Given the description of an element on the screen output the (x, y) to click on. 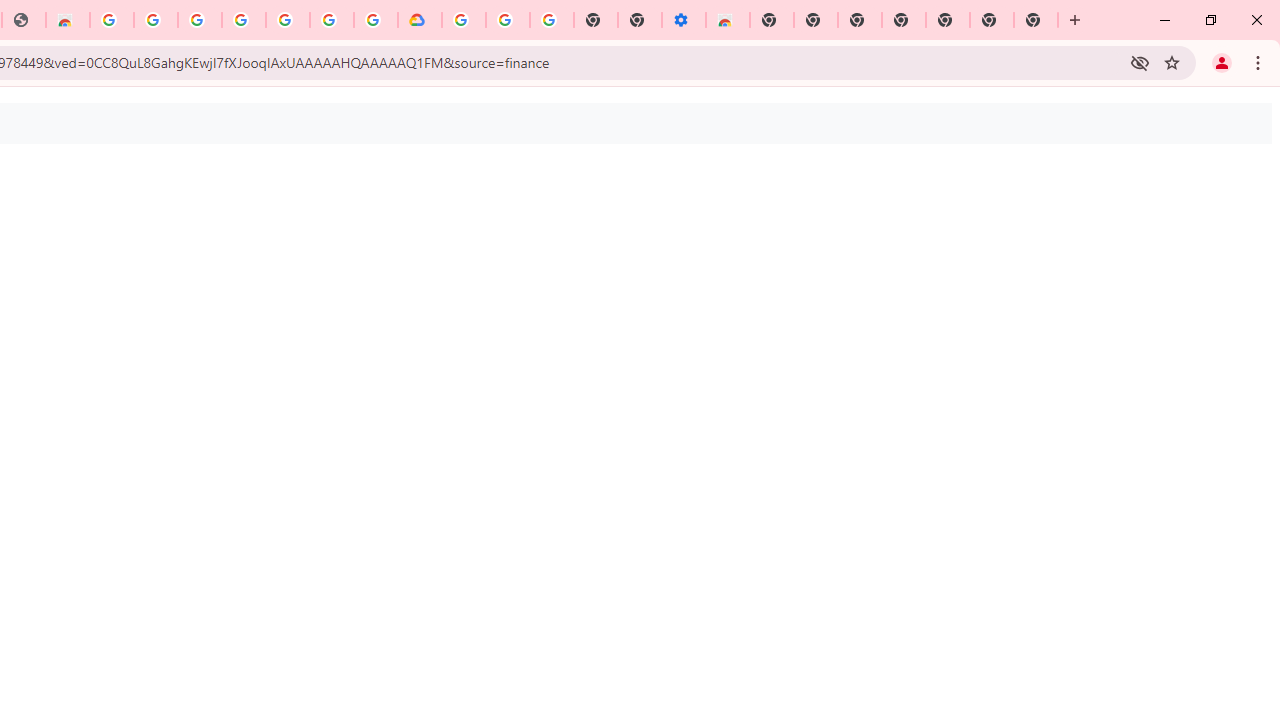
Google Account Help (507, 20)
Sign in - Google Accounts (199, 20)
Turn cookies on or off - Computer - Google Account Help (551, 20)
Sign in - Google Accounts (331, 20)
Settings - Accessibility (683, 20)
Sign in - Google Accounts (463, 20)
Chrome Web Store - Accessibility extensions (728, 20)
